Given the description of an element on the screen output the (x, y) to click on. 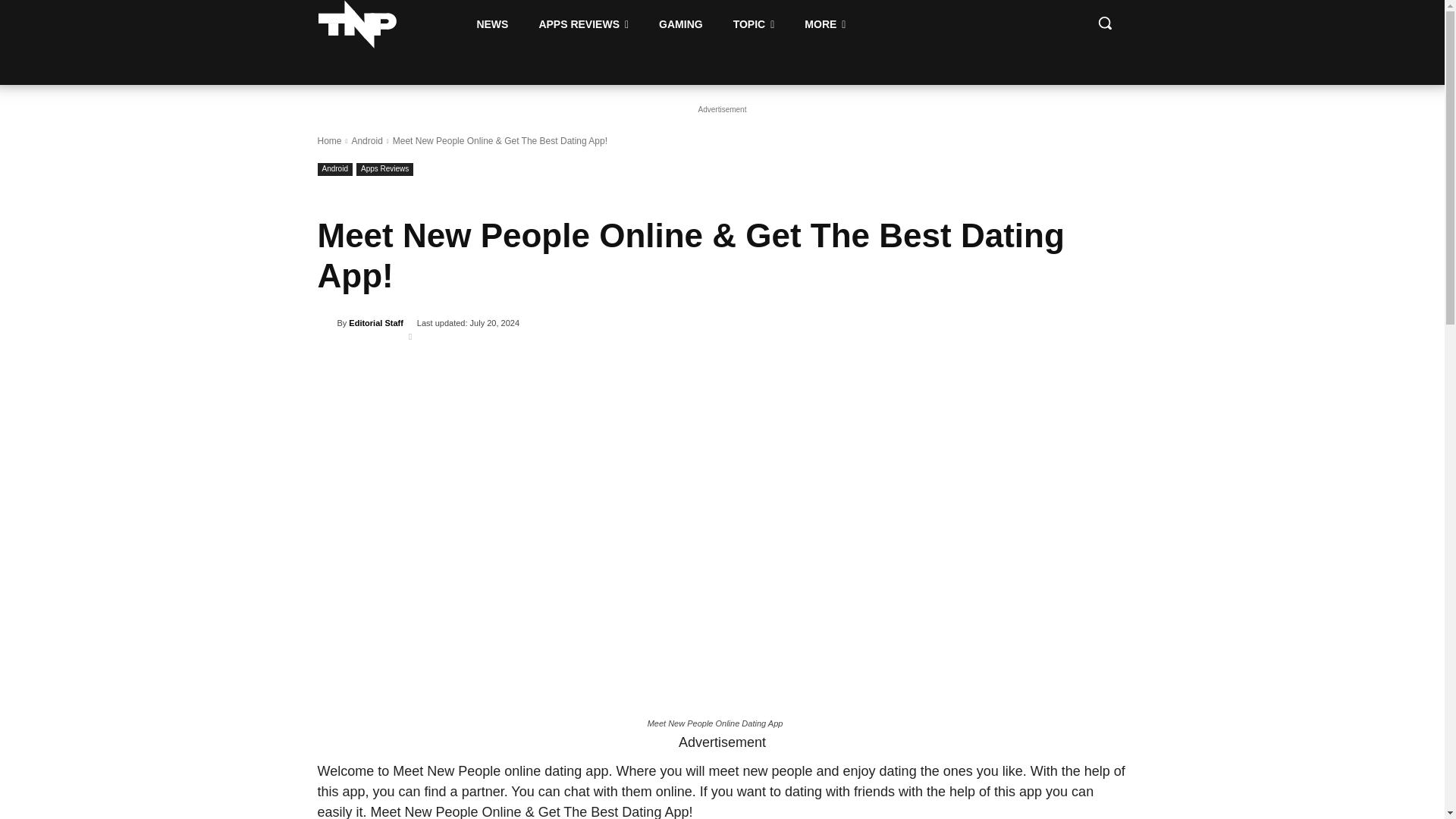
NEWS (491, 23)
Technewztop (357, 24)
View all posts in Android (365, 140)
APPS REVIEWS (582, 23)
Editorial Staff (326, 322)
